Given the description of an element on the screen output the (x, y) to click on. 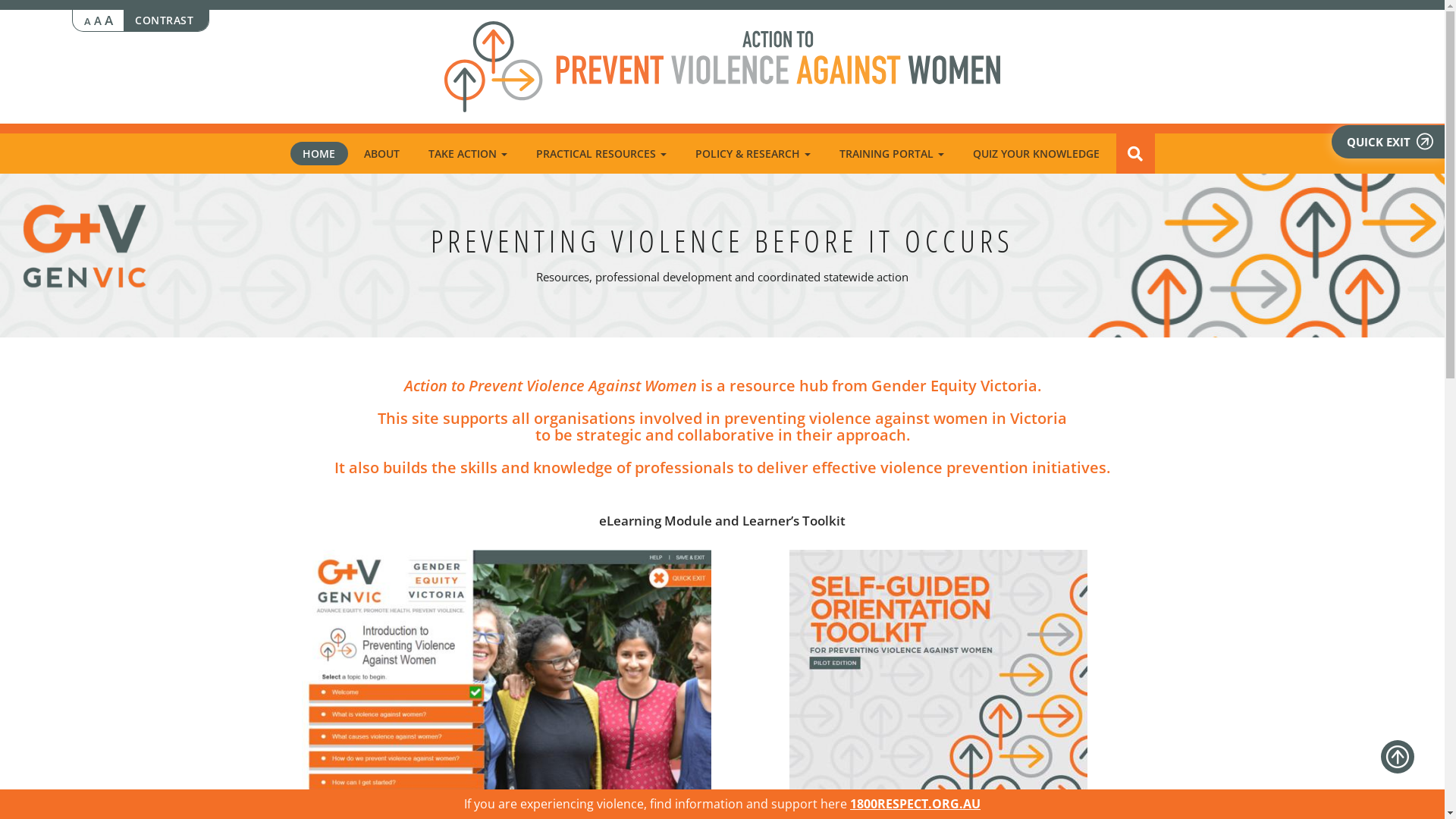
ABOUT Element type: text (381, 153)
TAKE ACTION Element type: text (467, 153)
1800RESPECT.ORG.AU Element type: text (915, 803)
CONTRAST Element type: text (165, 20)
POLICY & RESEARCH Element type: text (752, 153)
TRAINING PORTAL Element type: text (891, 153)
QUICK EXIT Element type: text (1387, 141)
QUIZ YOUR KNOWLEDGE Element type: text (1035, 153)
HOME Element type: text (318, 153)
PRACTICAL RESOURCES Element type: text (600, 153)
SEARCH Element type: text (1135, 153)
